Given the description of an element on the screen output the (x, y) to click on. 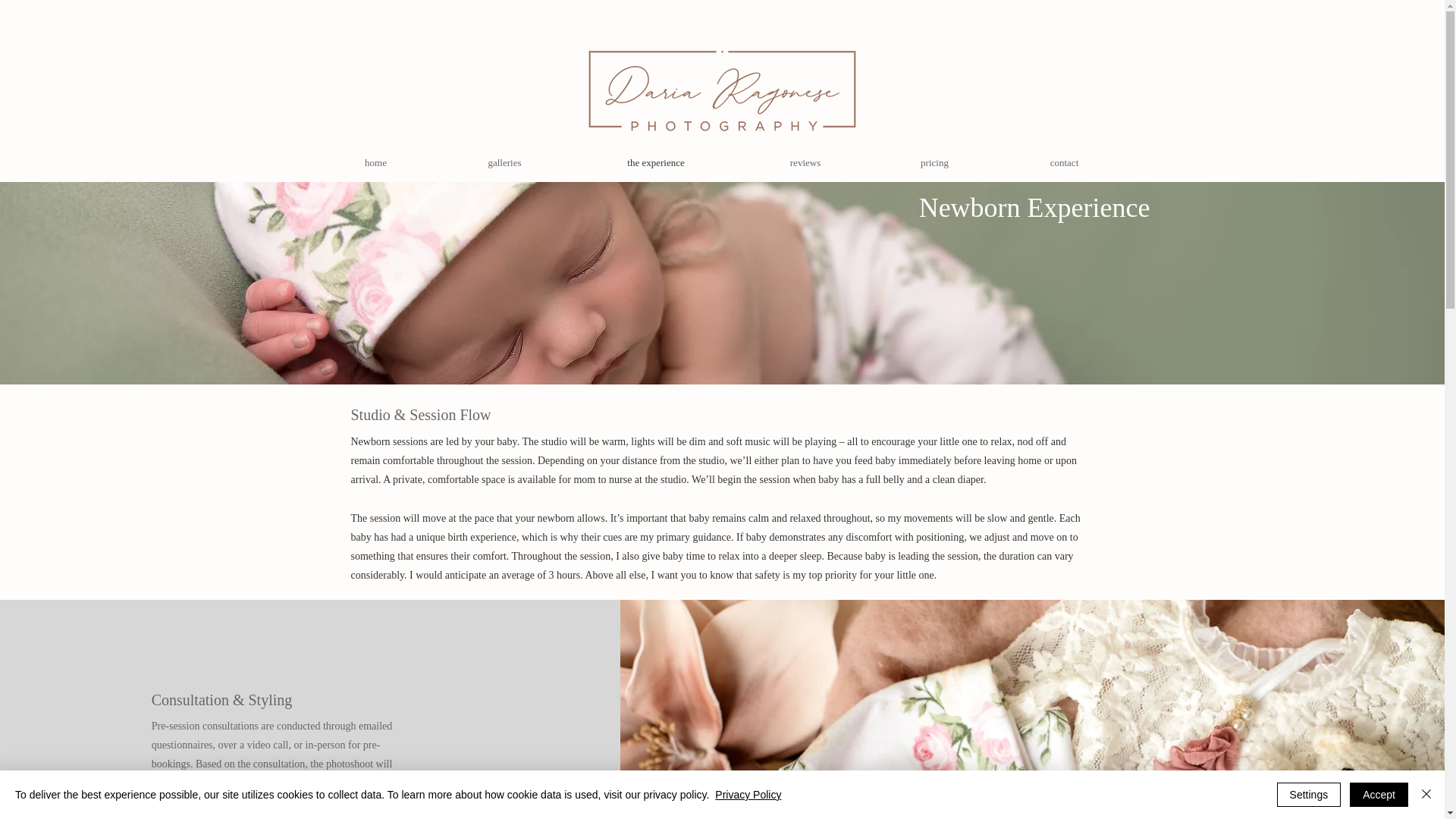
contact (1063, 162)
Accept (1378, 794)
home (375, 162)
reviews (804, 162)
pricing (933, 162)
Privacy Policy (747, 794)
galleries (504, 162)
Settings (1308, 794)
the experience (655, 162)
